Given the description of an element on the screen output the (x, y) to click on. 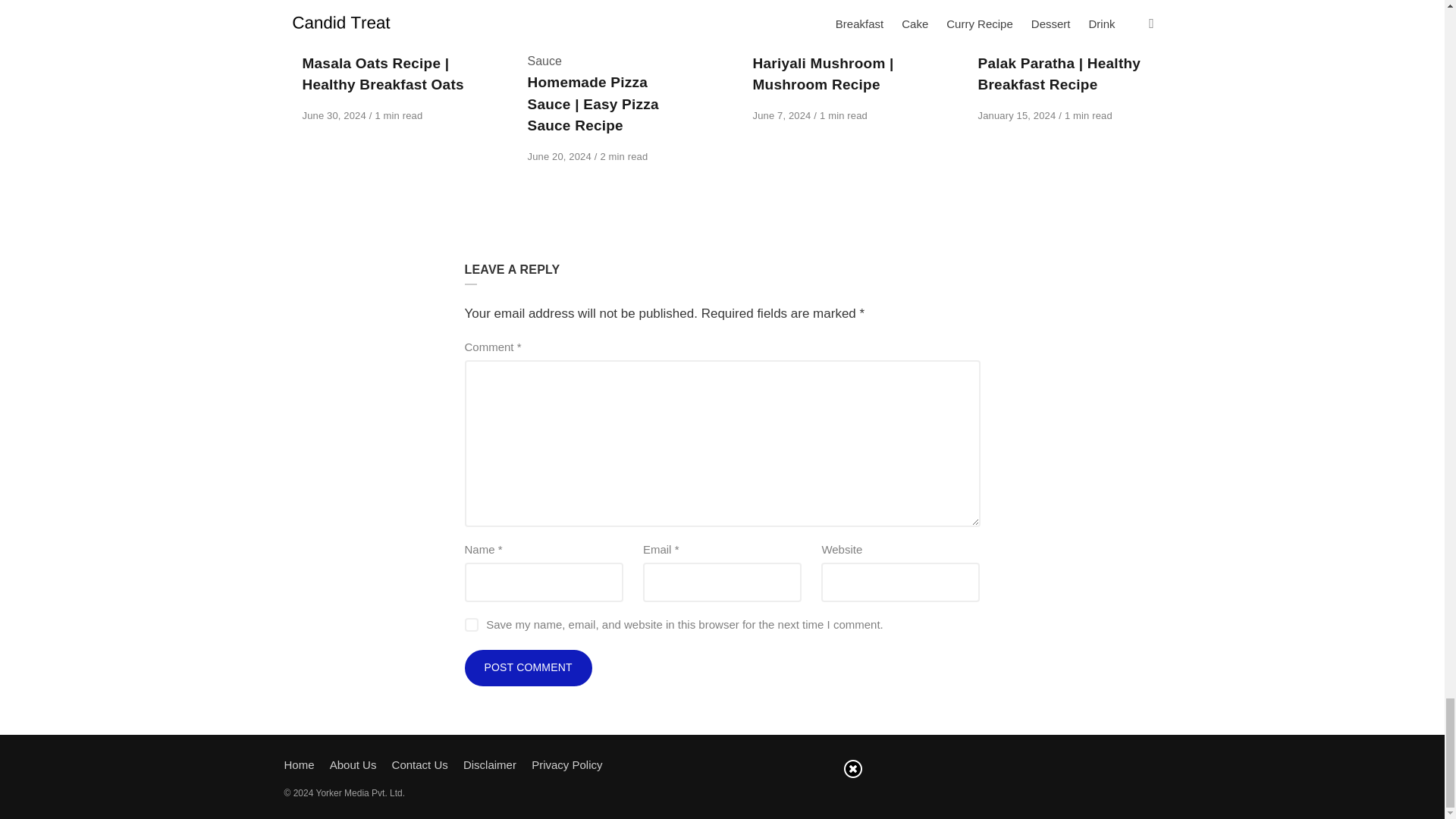
June 30, 2024 (334, 115)
yes (470, 624)
January 15, 2024 (1018, 115)
June 7, 2024 (782, 115)
June 30, 2024 (334, 115)
June 20, 2024 (560, 156)
Breakfast (327, 41)
Post Comment (527, 668)
